Given the description of an element on the screen output the (x, y) to click on. 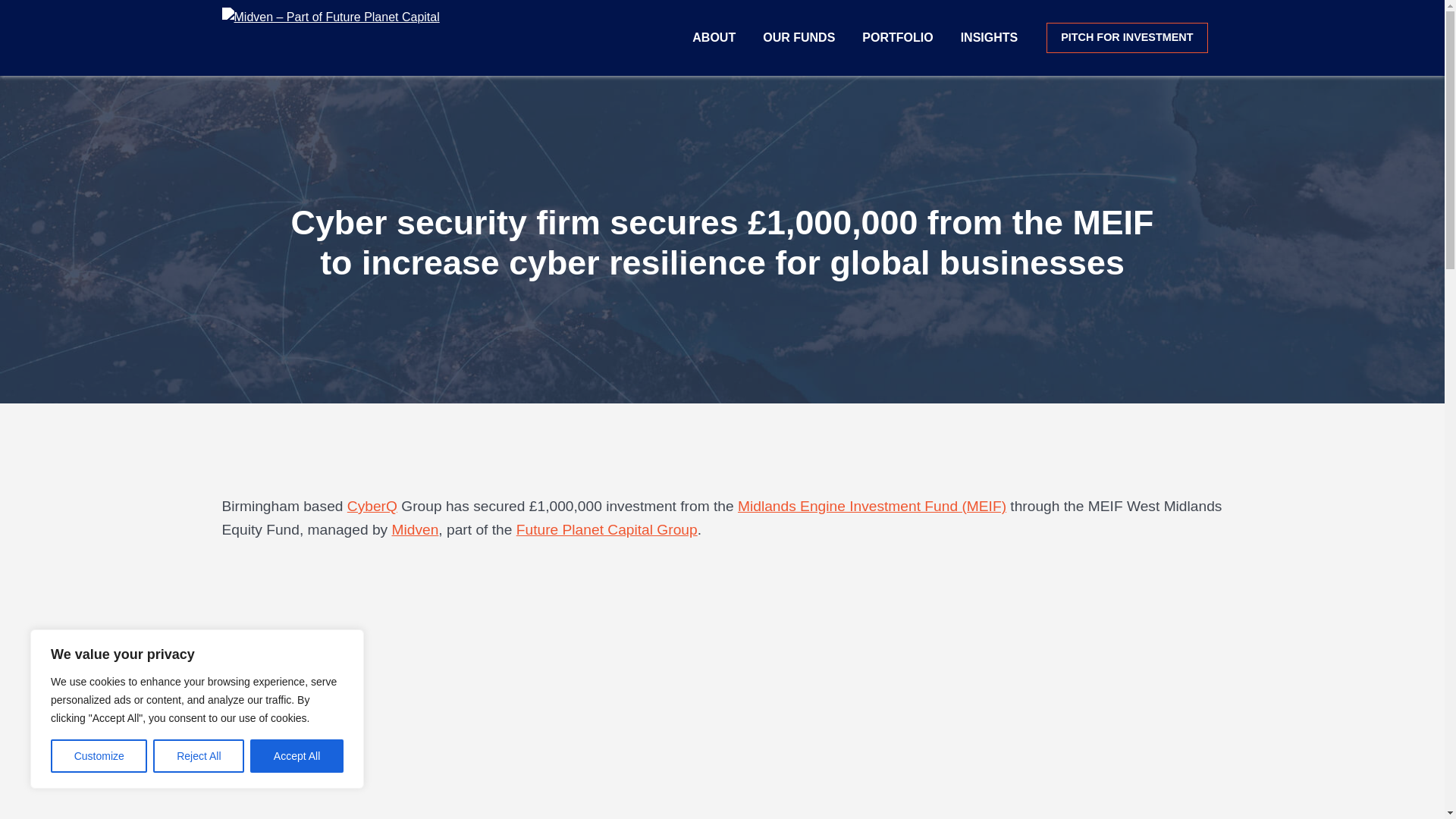
Reject All (198, 756)
ABOUT (713, 37)
CyberQ (372, 505)
PITCH FOR INVESTMENT (1126, 37)
Future Planet Capital Group (606, 529)
Customize (98, 756)
PORTFOLIO (897, 37)
Midven (414, 529)
INSIGHTS (989, 37)
OUR FUNDS (798, 37)
Accept All (296, 756)
